Given the description of an element on the screen output the (x, y) to click on. 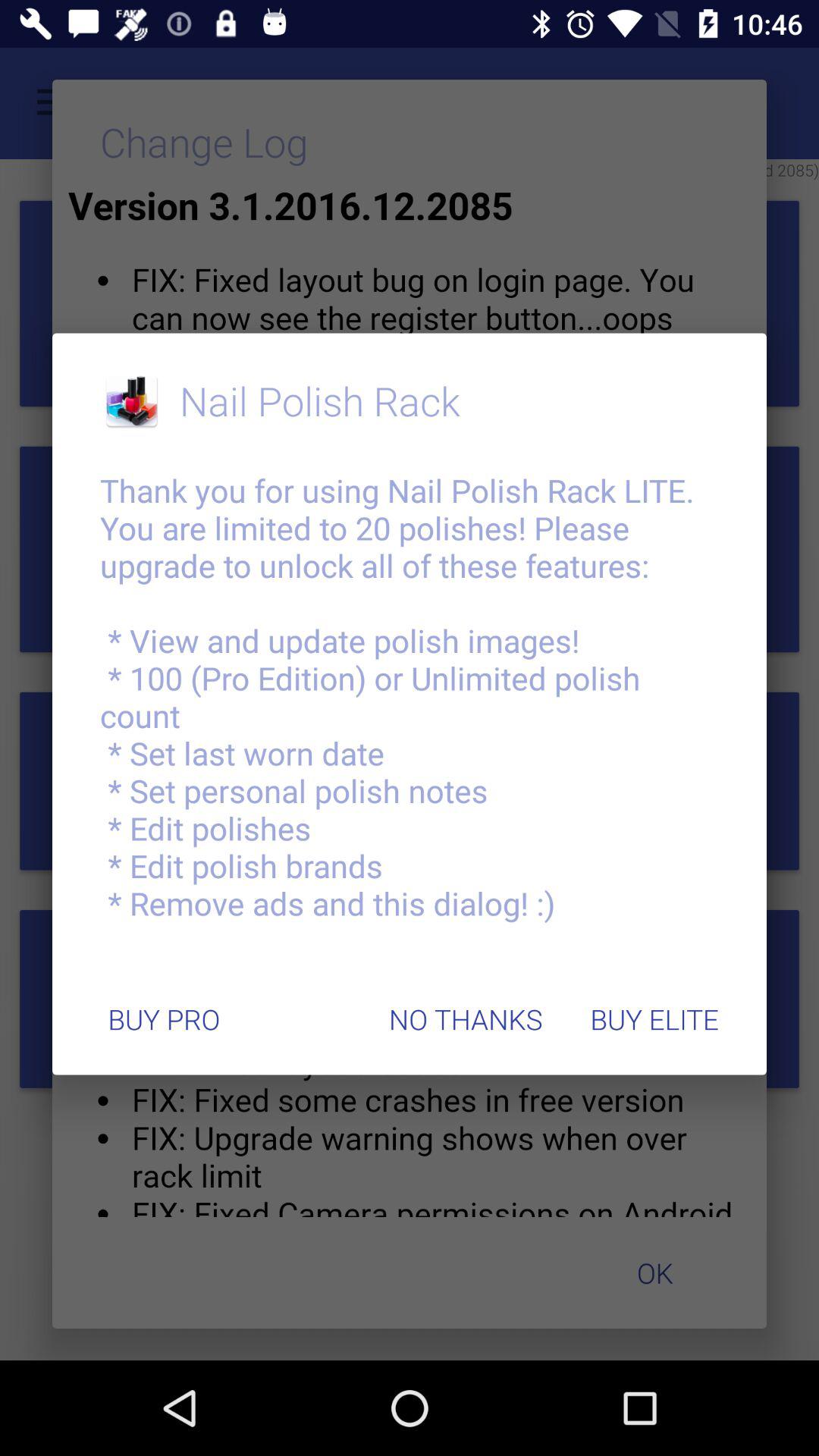
press no thanks (465, 1018)
